Given the description of an element on the screen output the (x, y) to click on. 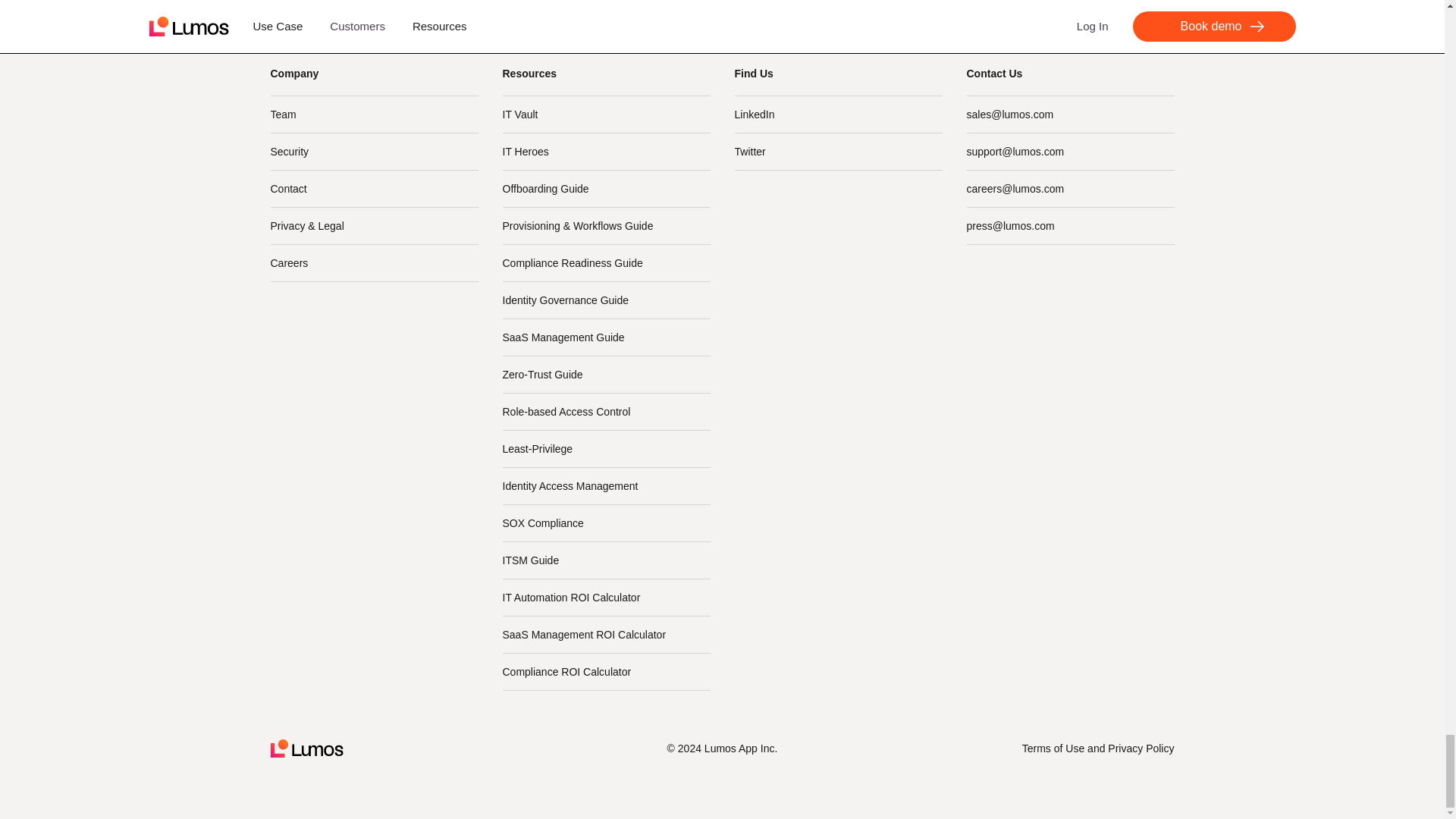
Self-Service Automation (606, 1)
Integrations (373, 20)
Privileged Access Management (606, 20)
Platform Overview (373, 1)
